Given the description of an element on the screen output the (x, y) to click on. 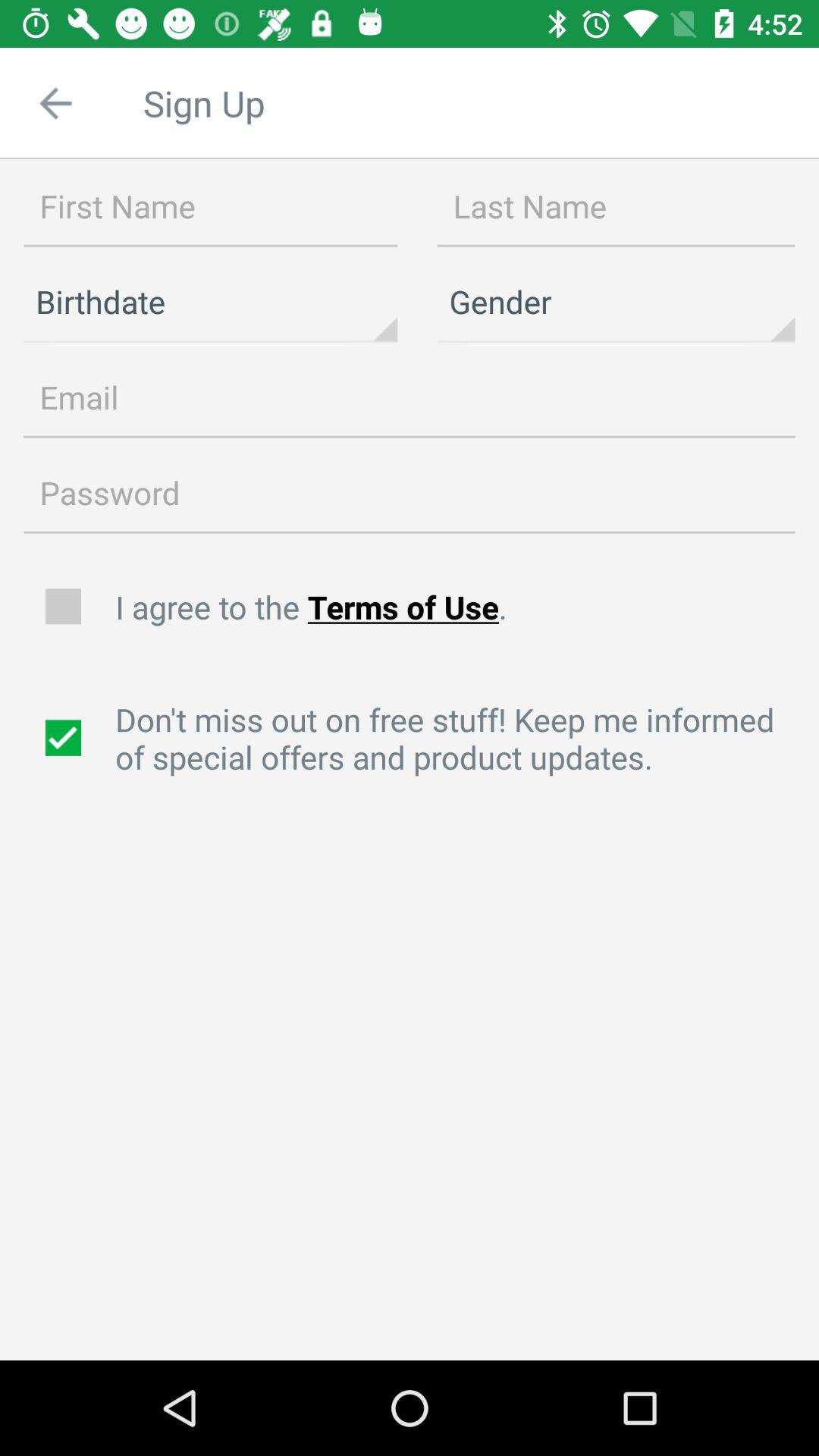
enter email (409, 397)
